Given the description of an element on the screen output the (x, y) to click on. 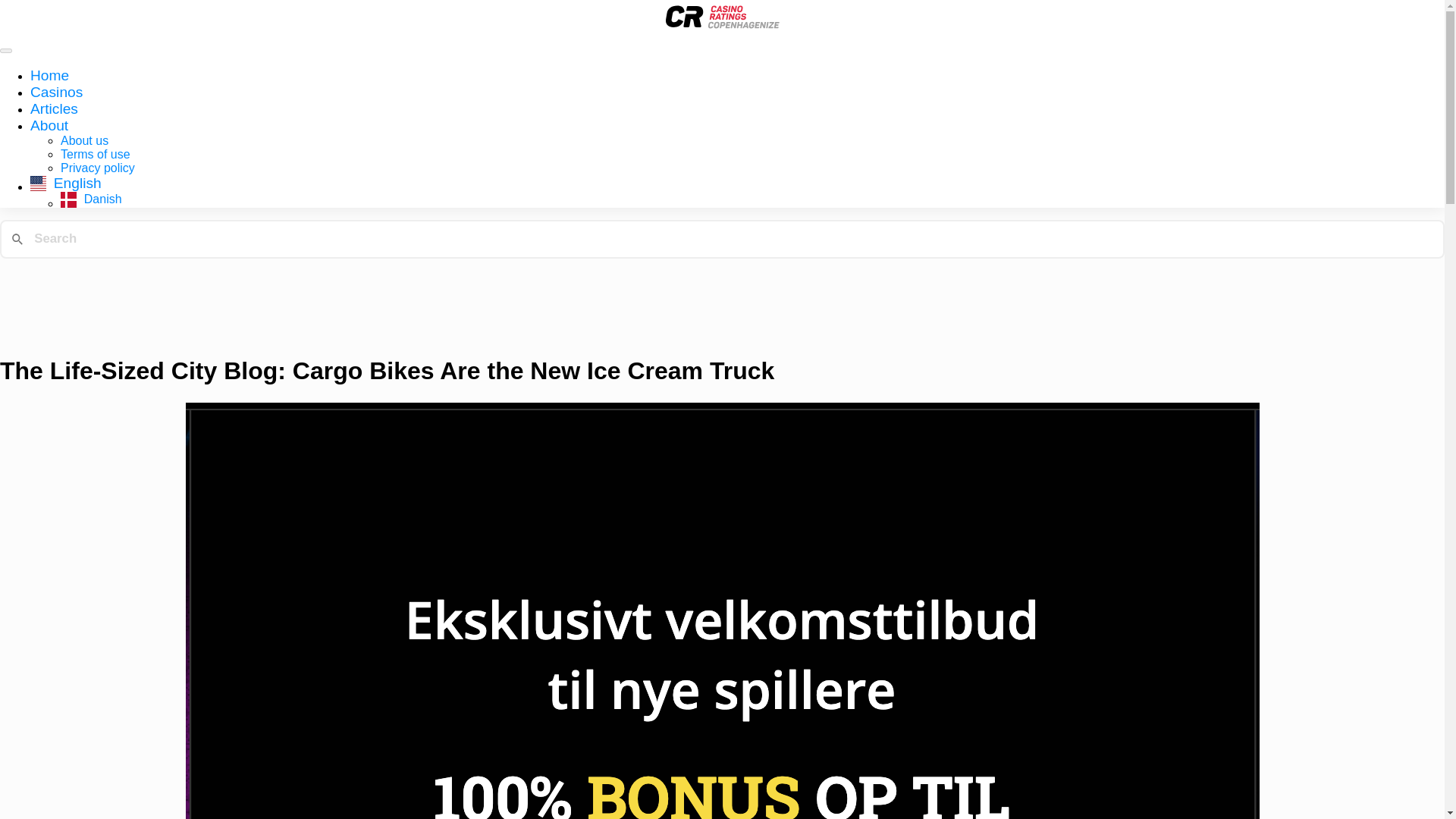
Casinos (56, 91)
Home (49, 75)
Home (49, 75)
Casinos (56, 91)
Terms of use (96, 154)
Articles (54, 108)
Articles (54, 108)
About us (84, 140)
About (49, 125)
Privacy policy (98, 167)
